Given the description of an element on the screen output the (x, y) to click on. 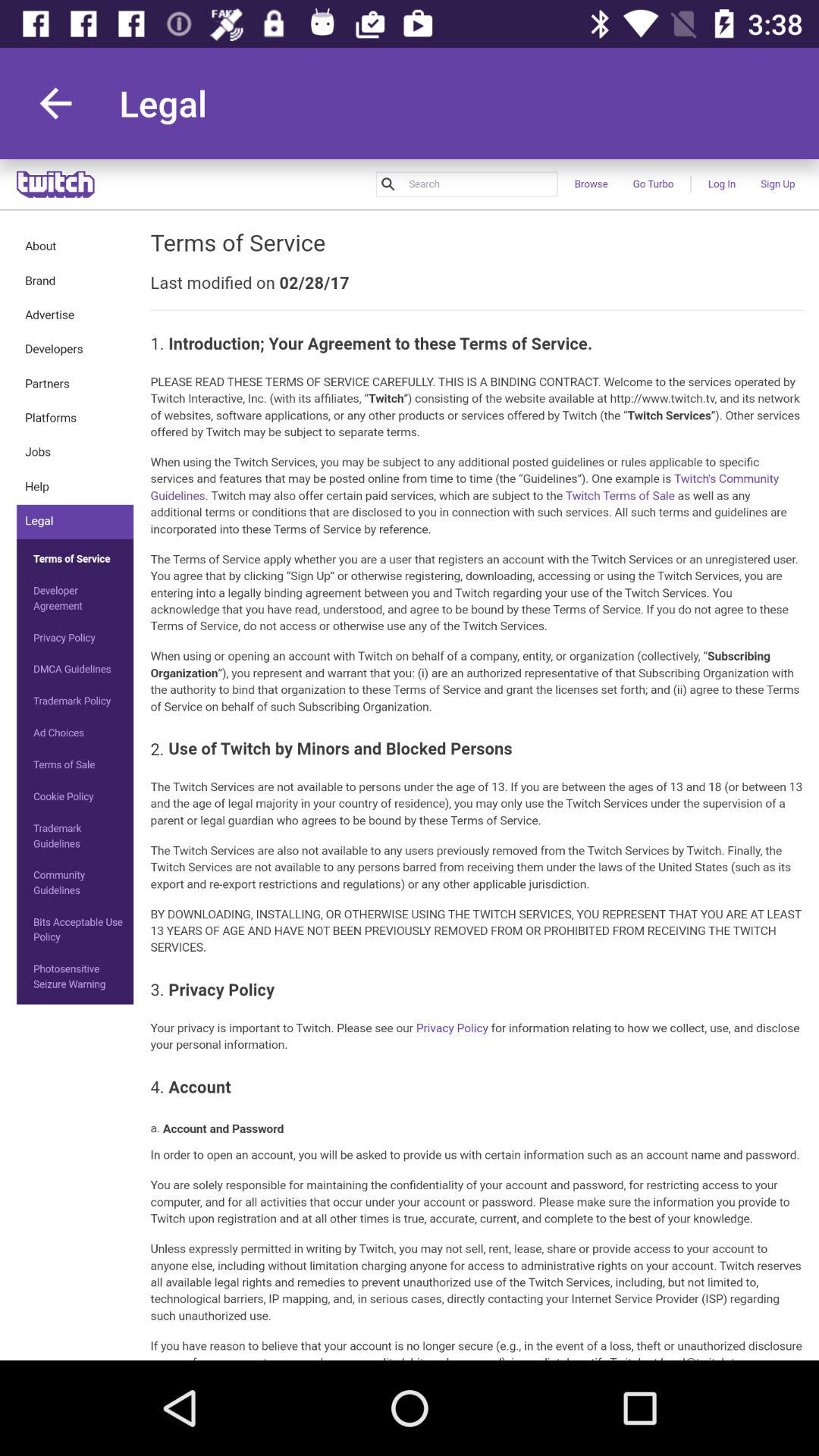
click article (409, 759)
